Given the description of an element on the screen output the (x, y) to click on. 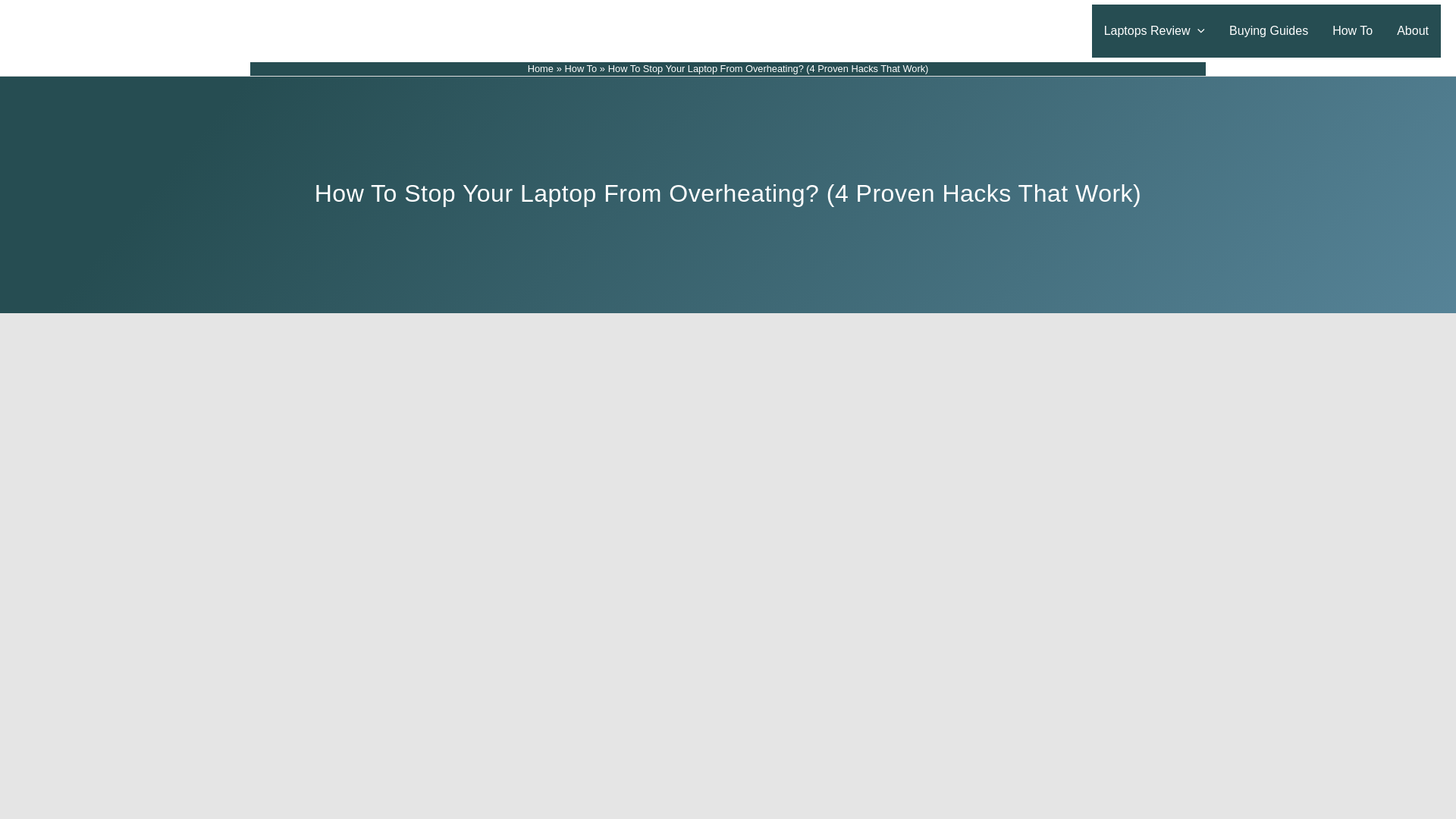
How To (580, 68)
Laptops Review (1154, 30)
How To (1352, 30)
About (1412, 30)
Buying Guides (1268, 30)
Home (540, 68)
